Given the description of an element on the screen output the (x, y) to click on. 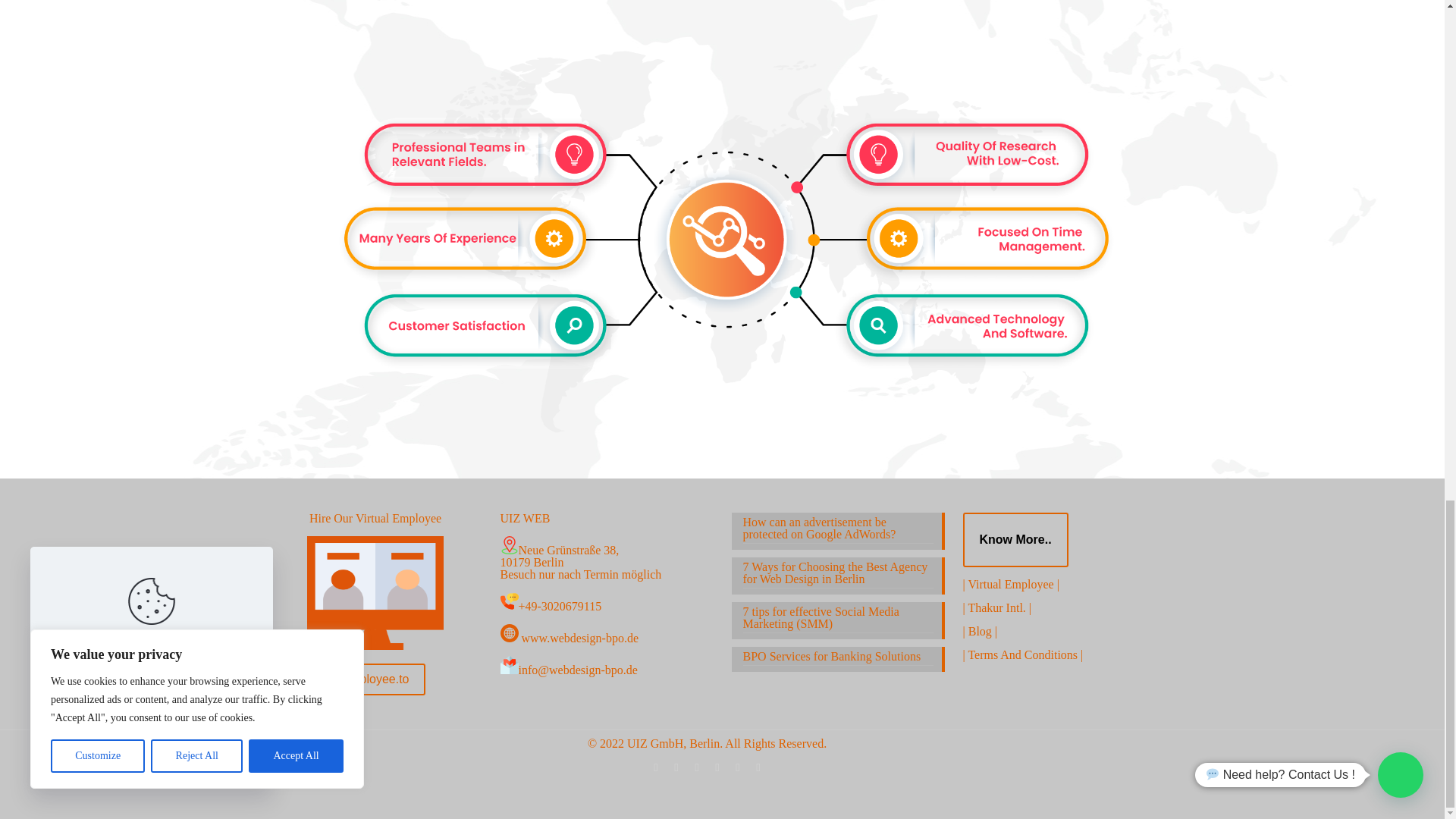
Instagram (696, 767)
Facebook (676, 767)
Twitter (717, 767)
LinkedIn (759, 767)
WhatsApp (655, 767)
YouTube (737, 767)
